Given the description of an element on the screen output the (x, y) to click on. 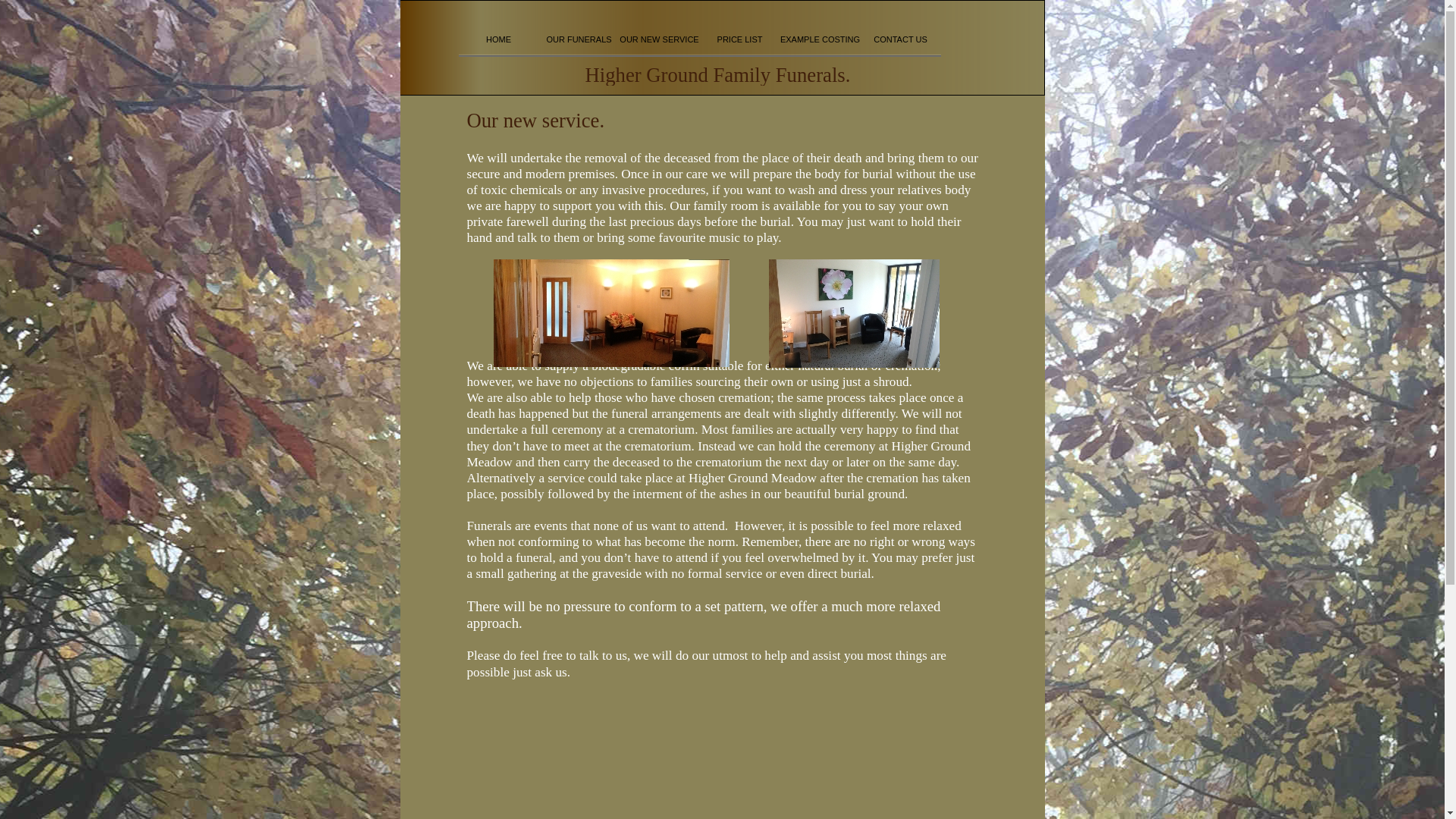
HOME (498, 39)
OUR FUNERALS (578, 39)
OUR NEW SERVICE (658, 39)
CONTACT US (900, 39)
PRICE LIST (738, 39)
EXAMPLE COSTING (819, 39)
